Given the description of an element on the screen output the (x, y) to click on. 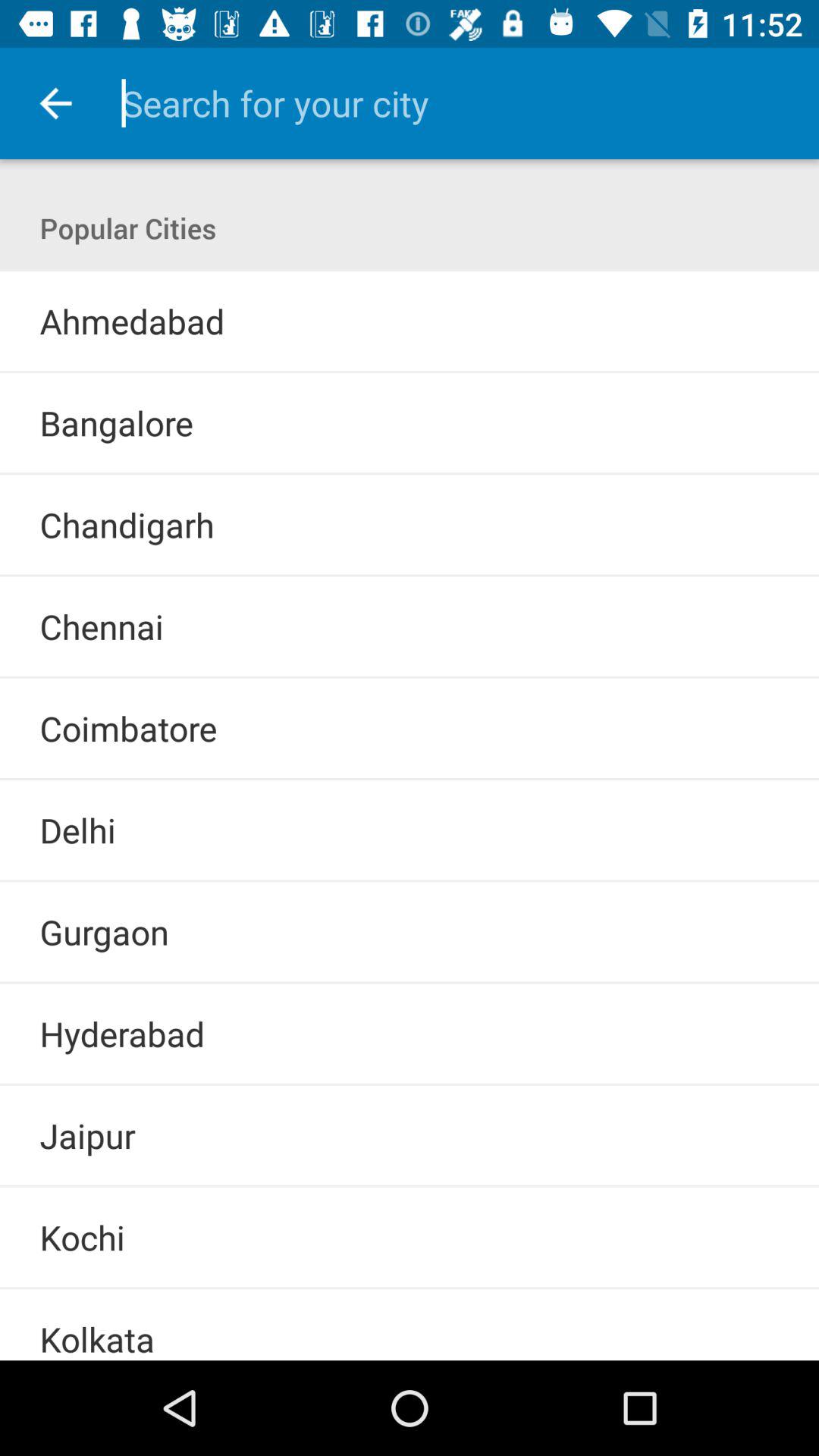
open the item above the hyderabad (409, 982)
